Given the description of an element on the screen output the (x, y) to click on. 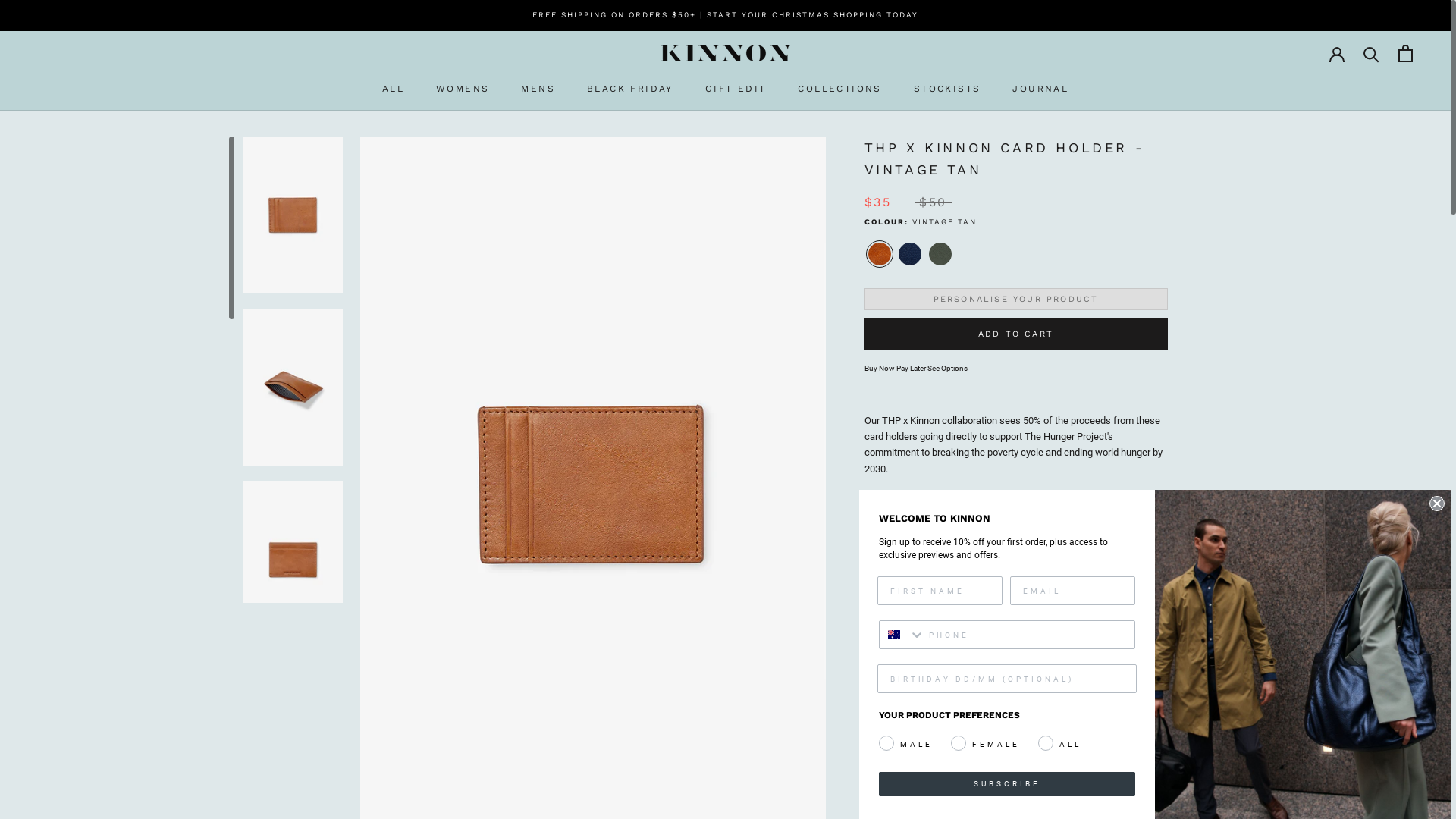
WOMENS
WOMENS Element type: text (462, 88)
THP X KINNON CARD HOLDER - MIDNIGHT BLUE Element type: hover (908, 253)
DESIGN NOTES Element type: text (1015, 790)
PERSONALISE YOUR PRODUCT Element type: text (1015, 299)
SUBSCRIBE Element type: text (1006, 783)
ALL
ALL Element type: text (393, 88)
Submit Element type: text (19, 7)
THP X KINNON CARD HOLDER - OLIVE GREEN Element type: hover (939, 253)
ADD TO CART Element type: text (1015, 333)
GIFT EDIT
GIFT EDIT Element type: text (735, 88)
BLACK FRIDAY Element type: text (629, 88)
THP X KINNON CARD HOLDER - VINTAGE TAN Element type: hover (878, 253)
STOCKISTS
STOCKISTS Element type: text (947, 88)
COLLECTIONS Element type: text (839, 88)
Australia Element type: hover (894, 634)
See Options Element type: text (946, 368)
MENS
MENS Element type: text (537, 88)
JOURNAL
JOURNAL Element type: text (1040, 88)
